Given the description of an element on the screen output the (x, y) to click on. 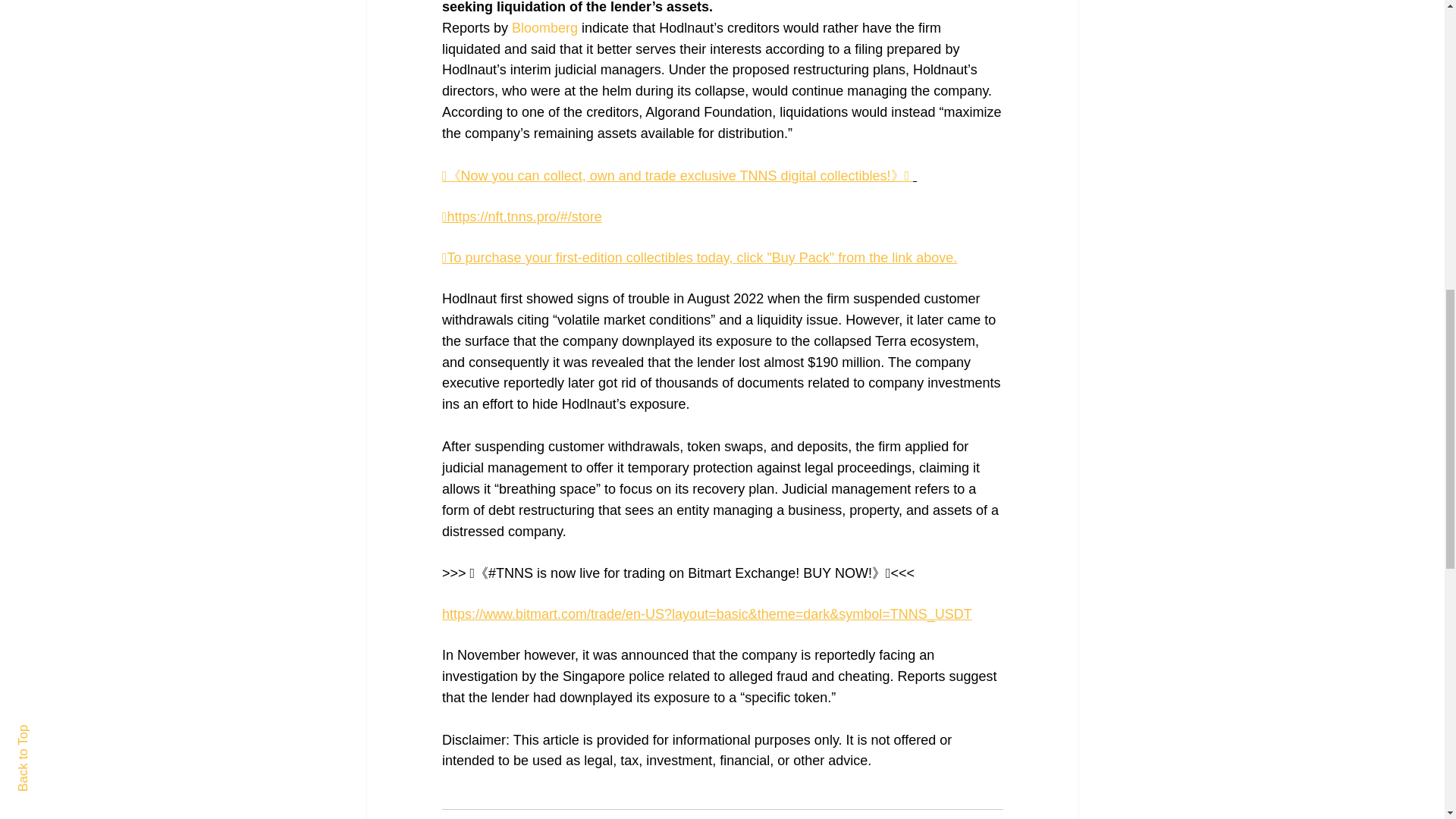
Bloomberg (545, 28)
